Given the description of an element on the screen output the (x, y) to click on. 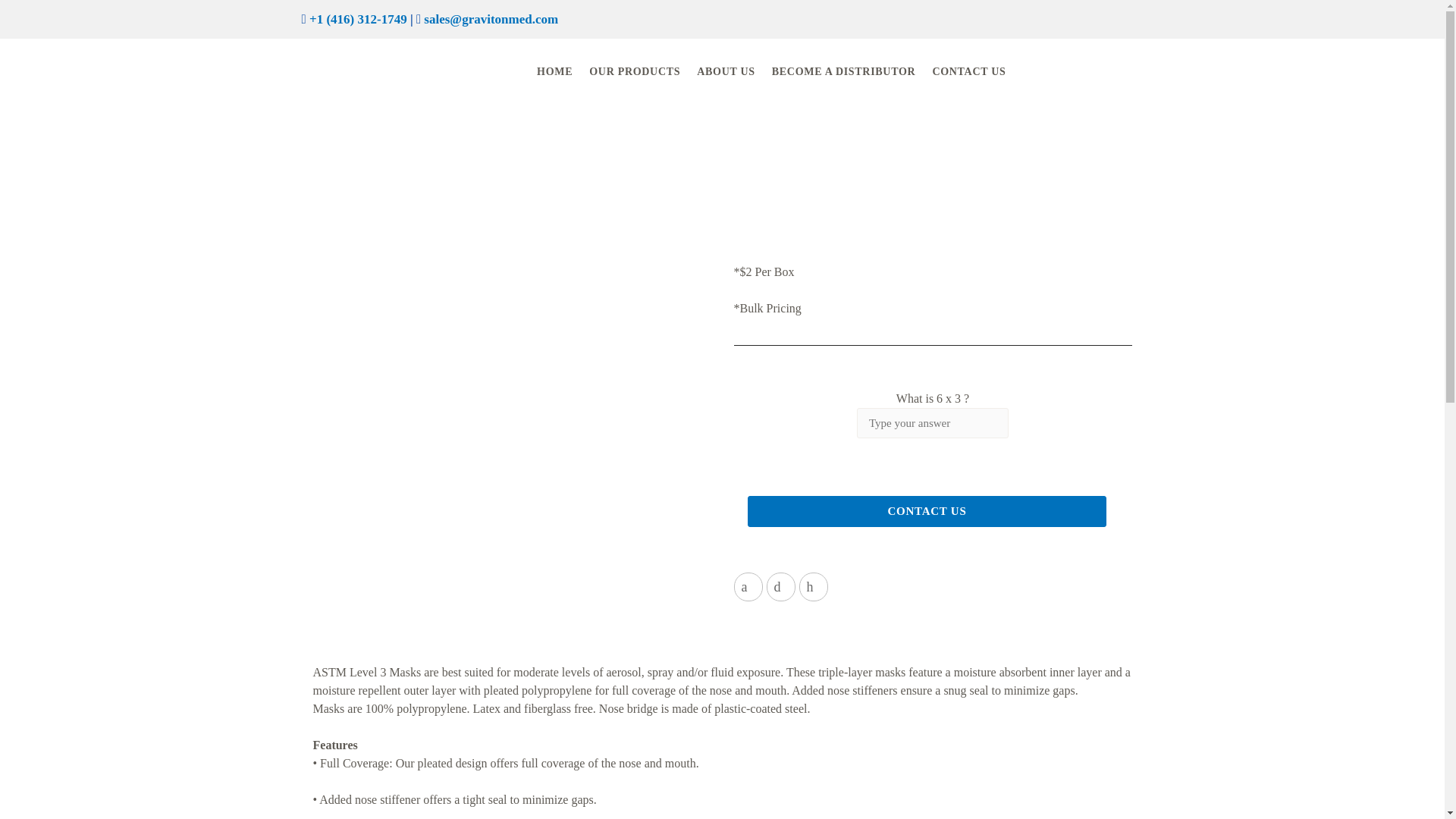
BECOME A DISTRIBUTOR (851, 68)
OUR PRODUCTS (641, 68)
Share on Twitter (779, 586)
Share on Pinterest (813, 586)
CONTACT US (927, 511)
ABOUT US (733, 68)
Share on Facebook (747, 586)
CONTACT US (927, 511)
CONTACT US (976, 68)
